Given the description of an element on the screen output the (x, y) to click on. 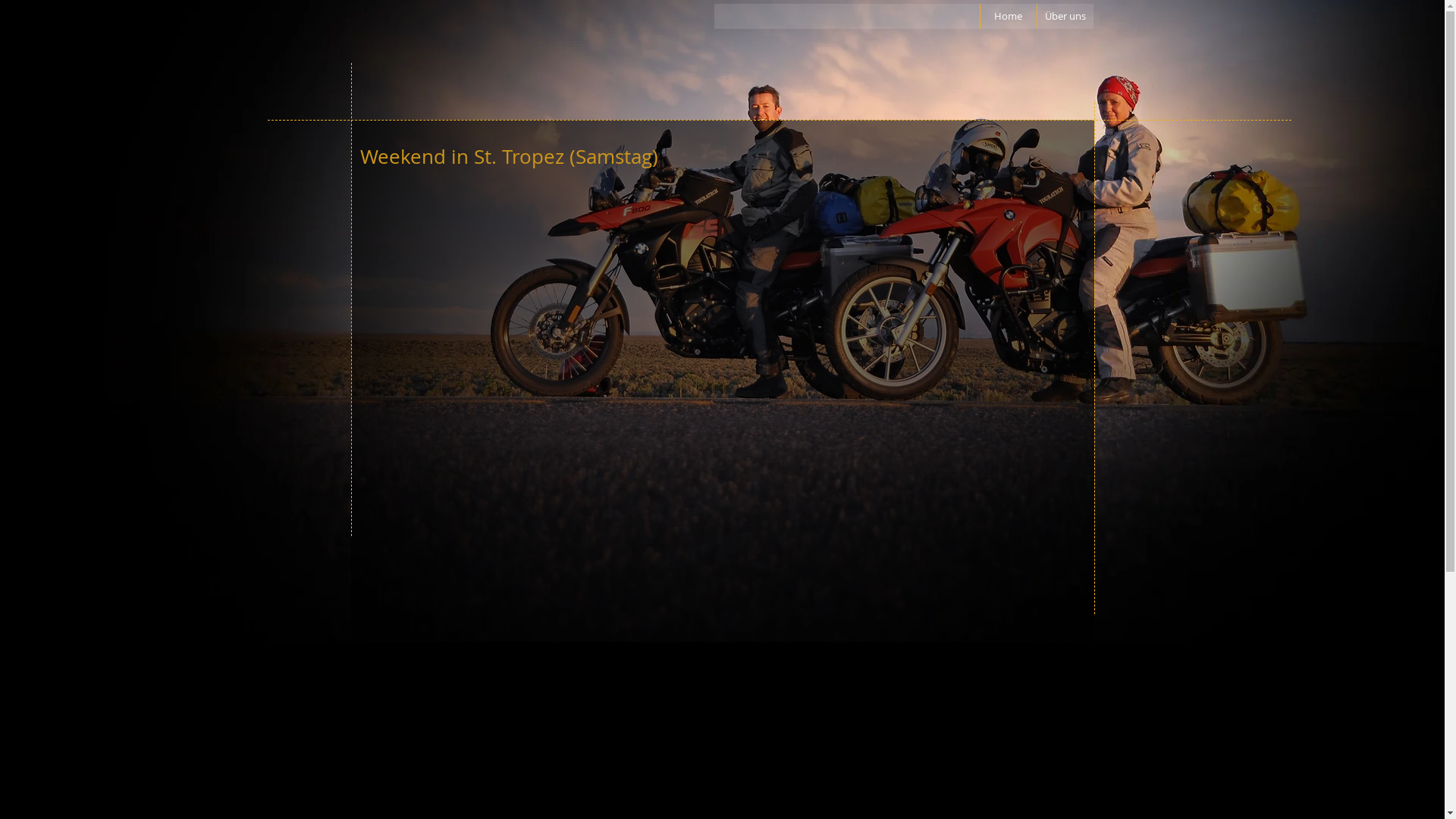
External YouTube Element type: hover (721, 409)
Home Element type: text (1007, 15)
